Given the description of an element on the screen output the (x, y) to click on. 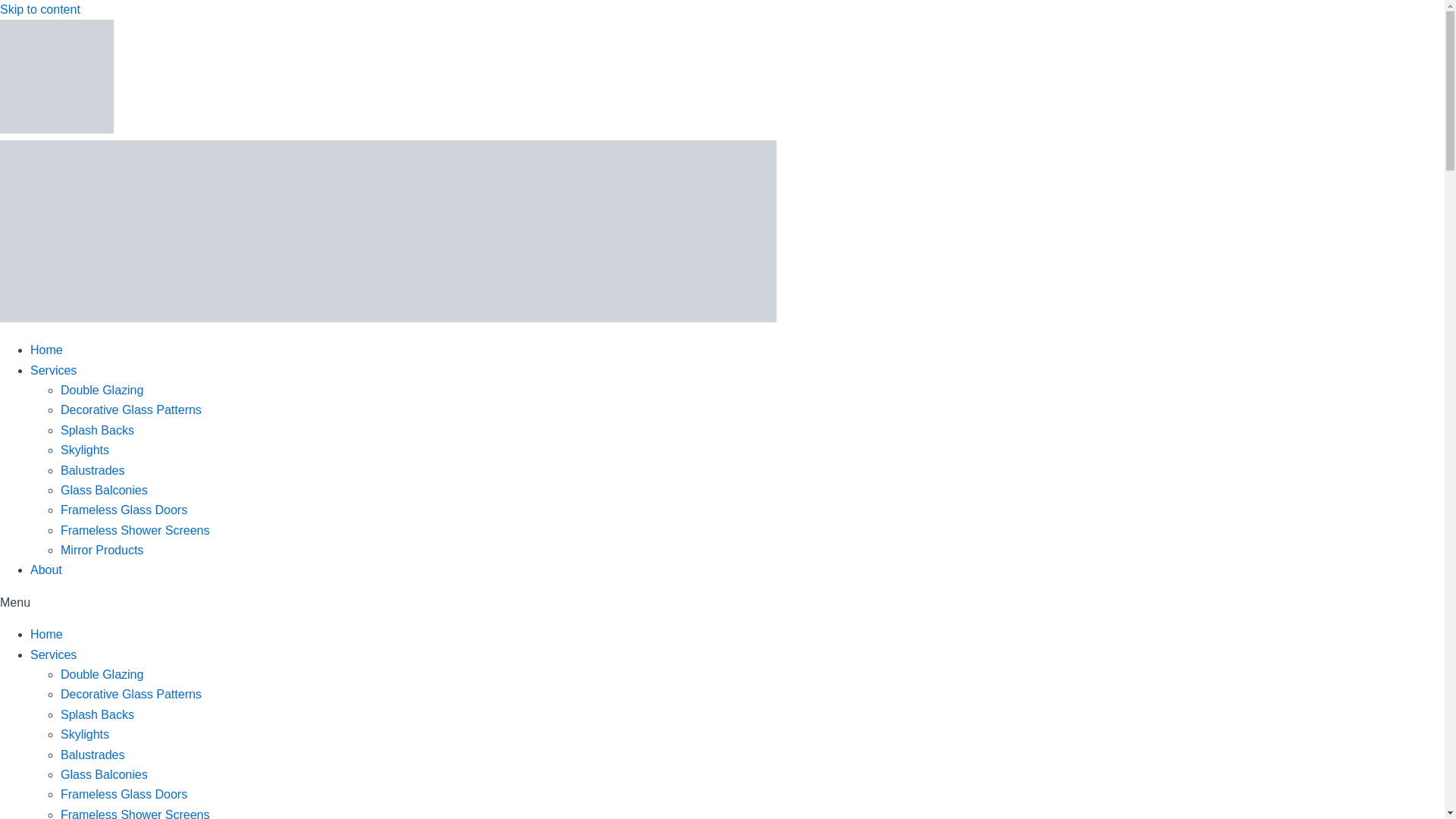
Double Glazing (101, 390)
Skip to content (40, 9)
Splash Backs (97, 430)
Services (53, 654)
Frameless Shower Screens (135, 530)
Home (46, 634)
Frameless Glass Doors (124, 509)
Balustrades (93, 754)
Balustrades (93, 470)
Decorative Glass Patterns (131, 694)
Skylights (85, 734)
Frameless Glass Doors (124, 793)
Splash Backs (97, 714)
Frameless Shower Screens (135, 813)
Mirror Products (101, 549)
